Given the description of an element on the screen output the (x, y) to click on. 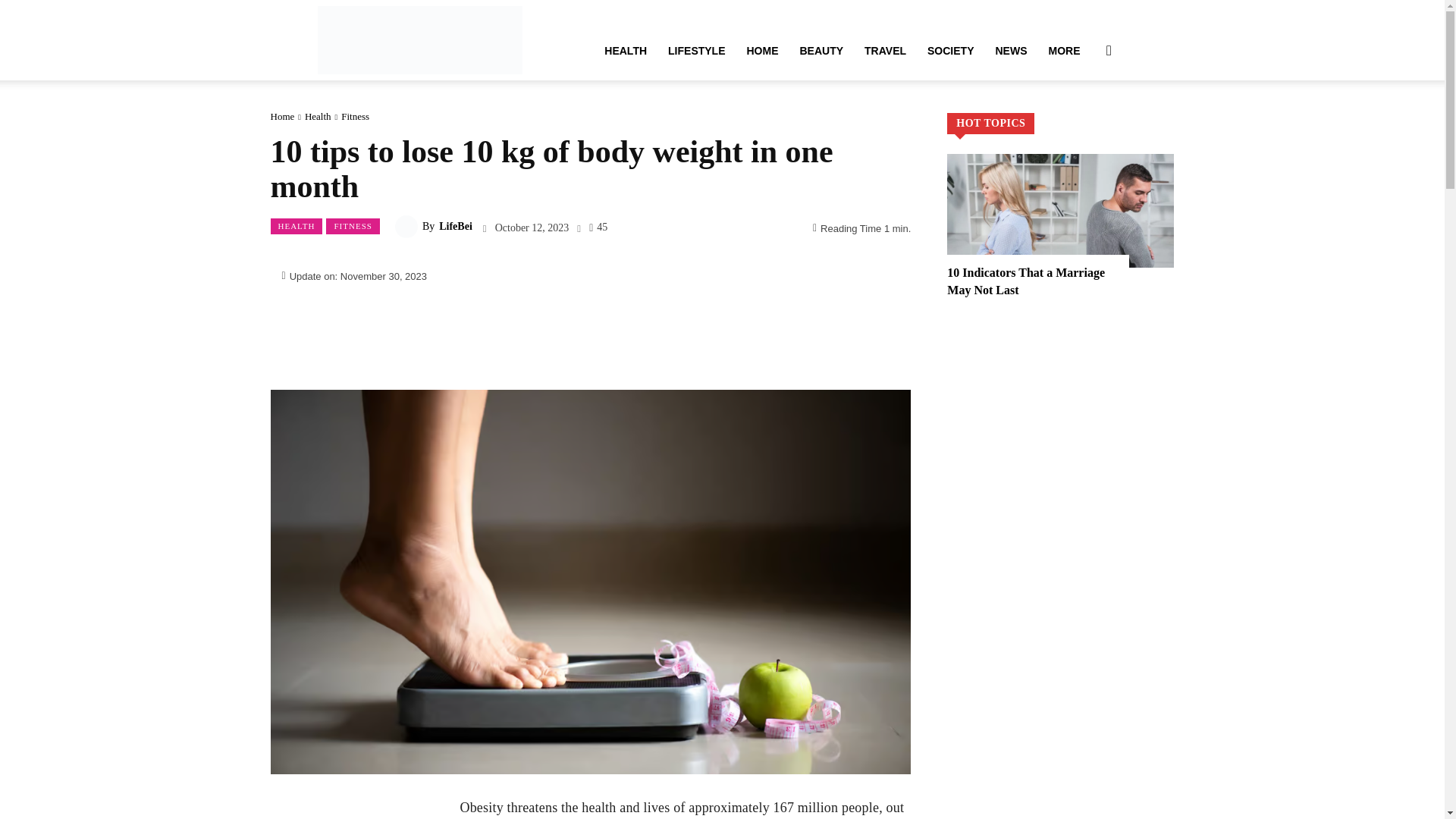
LifeBei Best Lifestyle Tips (419, 39)
LIFESTYLE (696, 50)
HOME (762, 50)
10 Indicators That a Marriage May Not Last (1026, 280)
HEALTH (626, 50)
Search (1085, 122)
LifeBei (408, 226)
LifeBei (419, 39)
View all posts in Fitness (354, 116)
10 Indicators That a Marriage May Not Last (1060, 210)
